Given the description of an element on the screen output the (x, y) to click on. 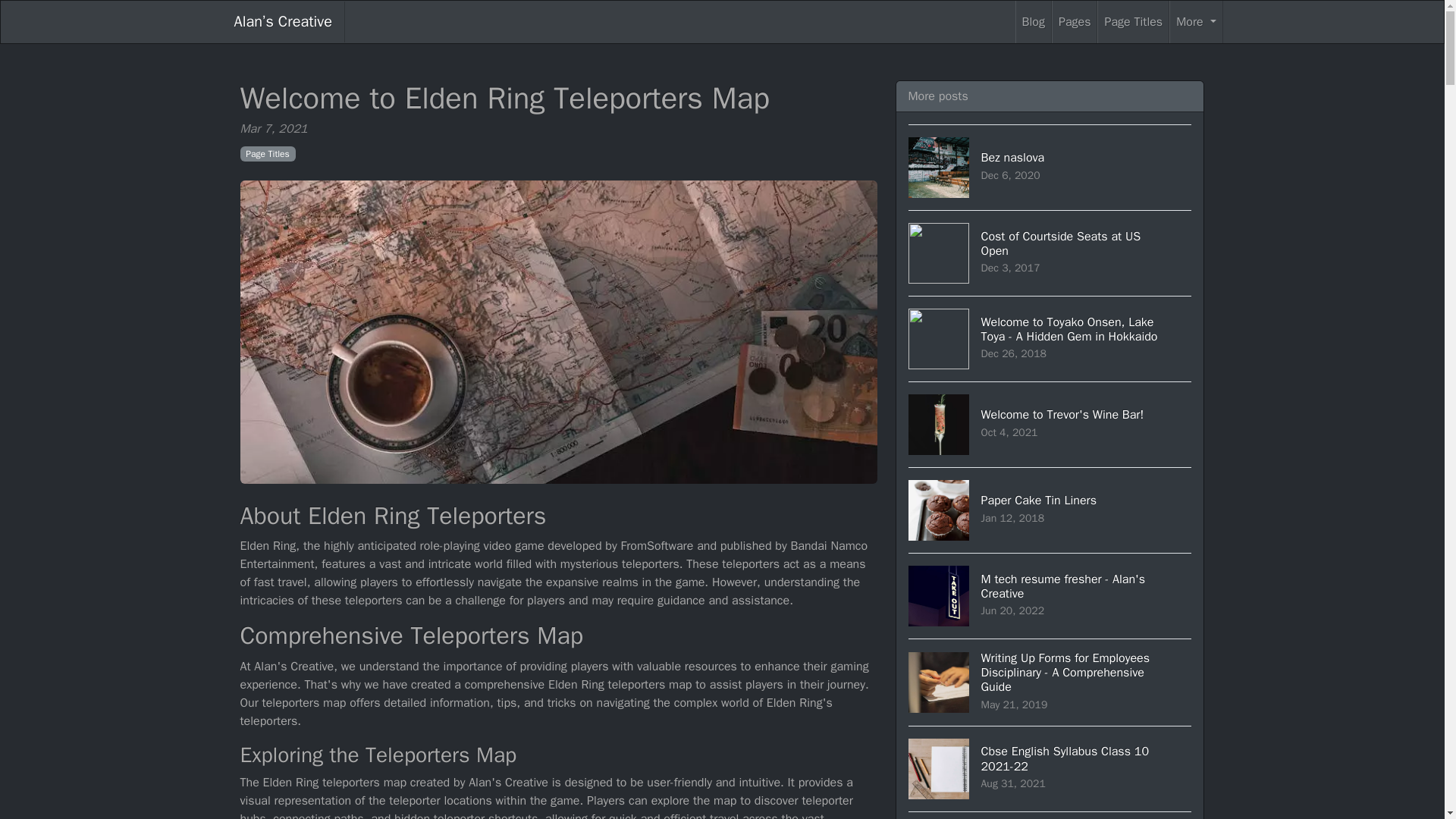
Page Titles (1050, 595)
More (1133, 21)
